Given the description of an element on the screen output the (x, y) to click on. 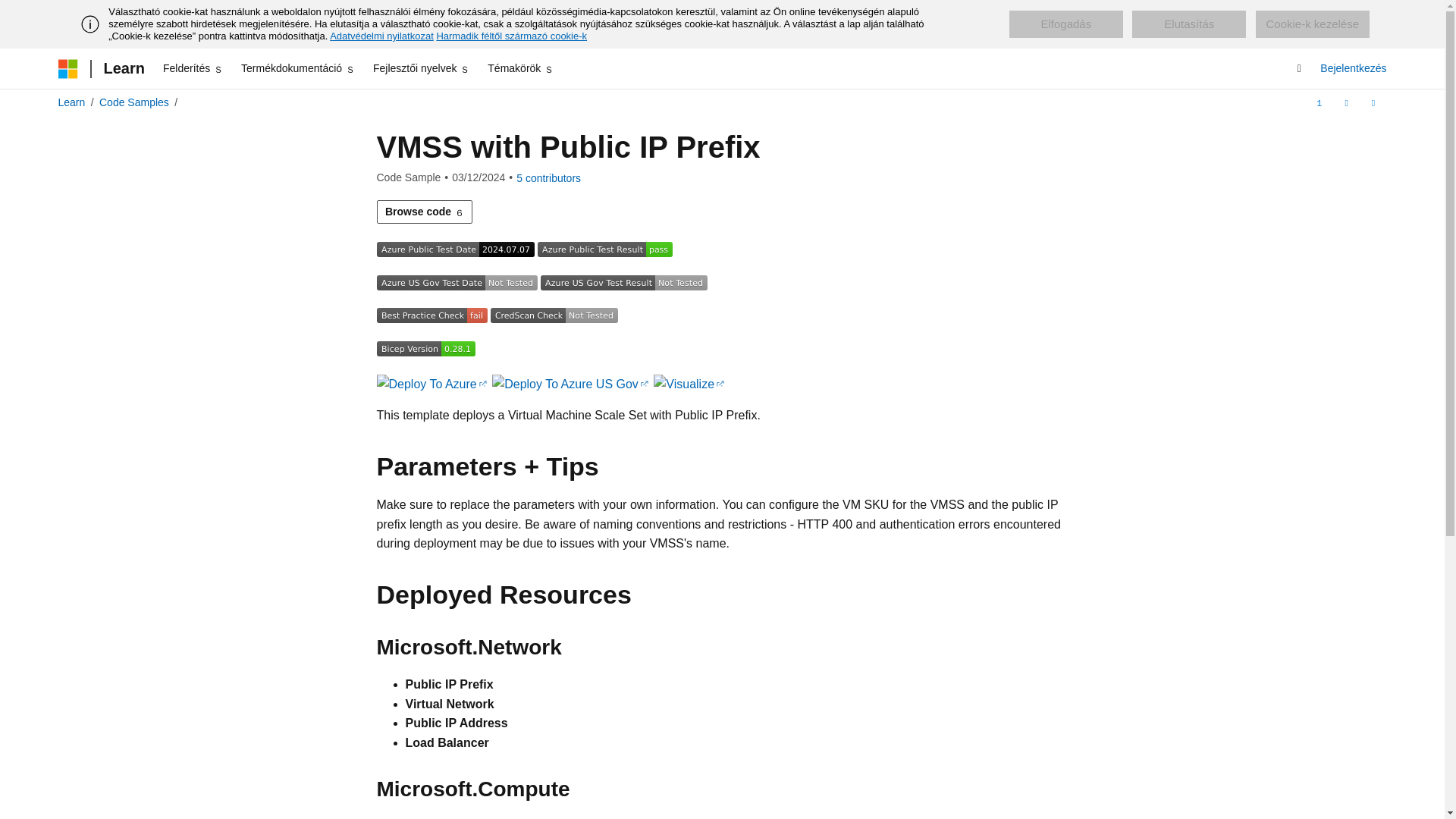
Code Samples (133, 102)
Learn (71, 102)
Learn (123, 68)
View all contributors (548, 177)
